Given the description of an element on the screen output the (x, y) to click on. 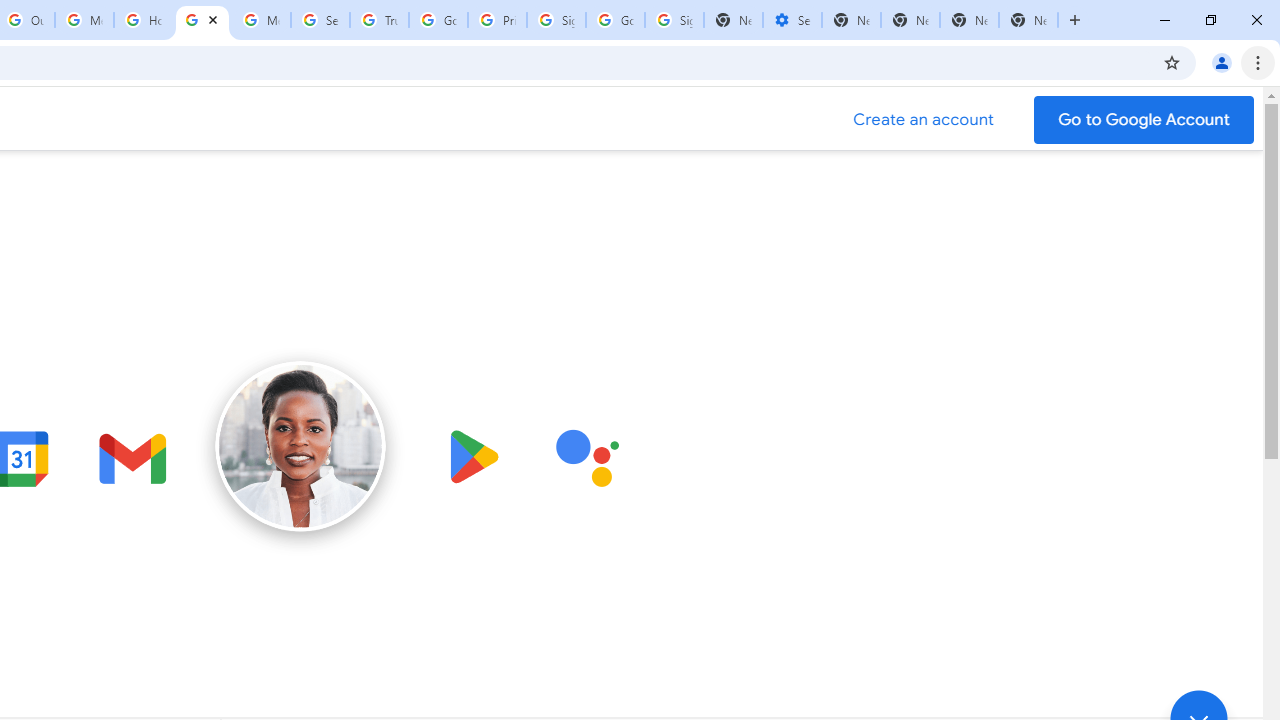
New Tab (1028, 20)
Trusted Information and Content - Google Safety Center (379, 20)
Search our Doodle Library Collection - Google Doodles (319, 20)
Google Ads - Sign in (438, 20)
Settings - Performance (791, 20)
Create a Google Account (923, 119)
